Given the description of an element on the screen output the (x, y) to click on. 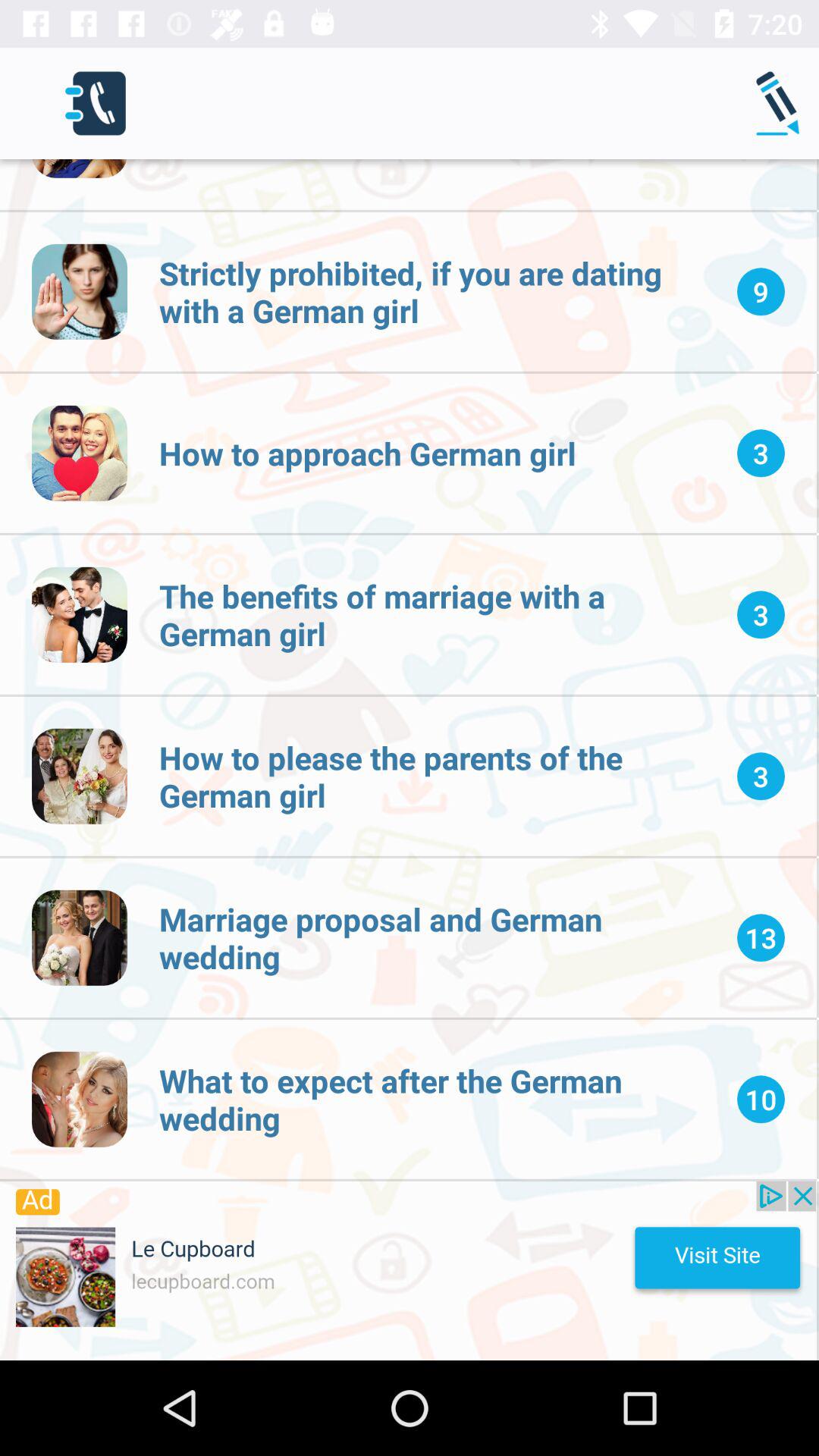
select the 3rd icon (79, 453)
select the image in the third block (79, 614)
